Given the description of an element on the screen output the (x, y) to click on. 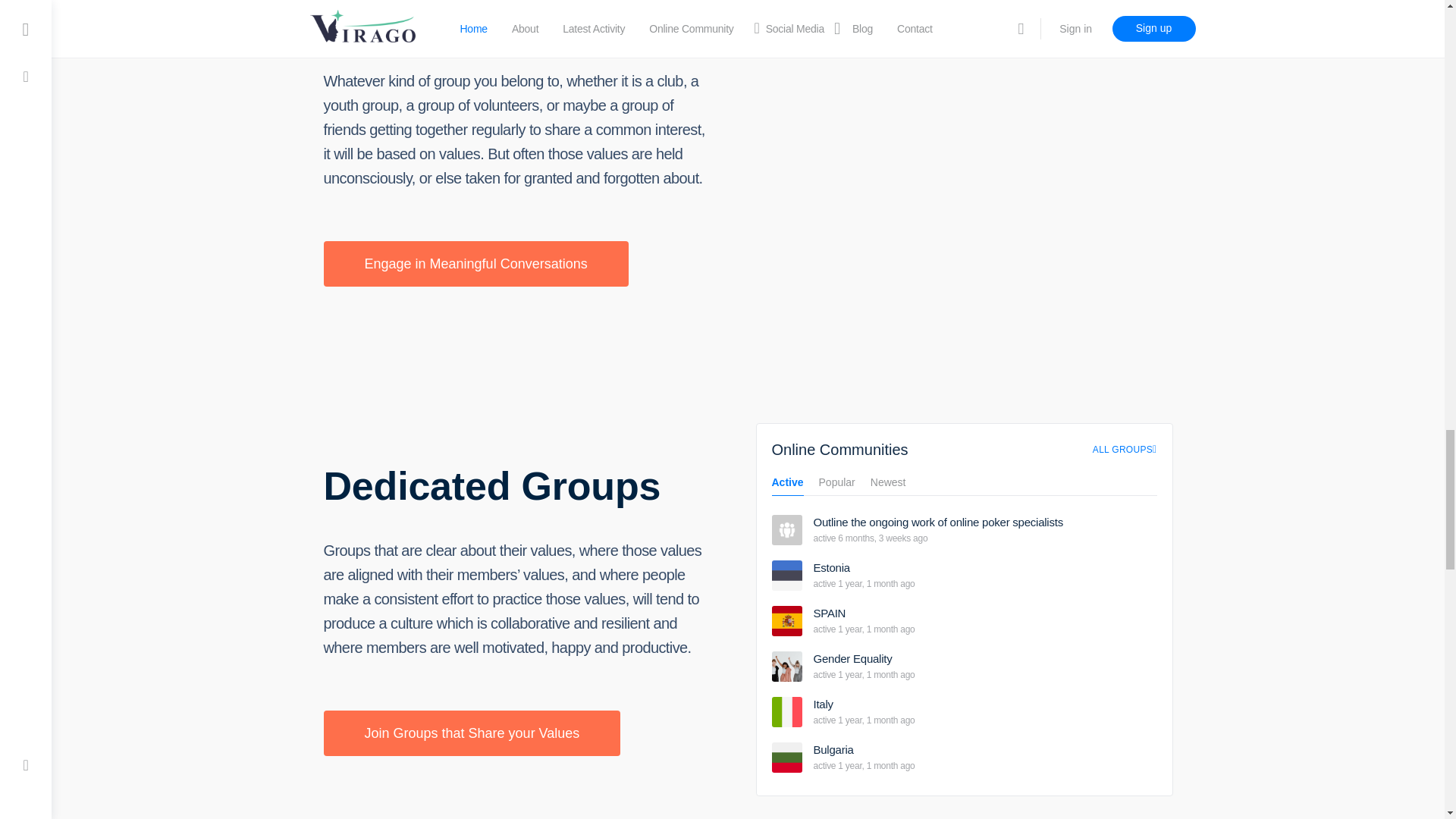
Engage in Meaningful Conversations (475, 263)
